Given the description of an element on the screen output the (x, y) to click on. 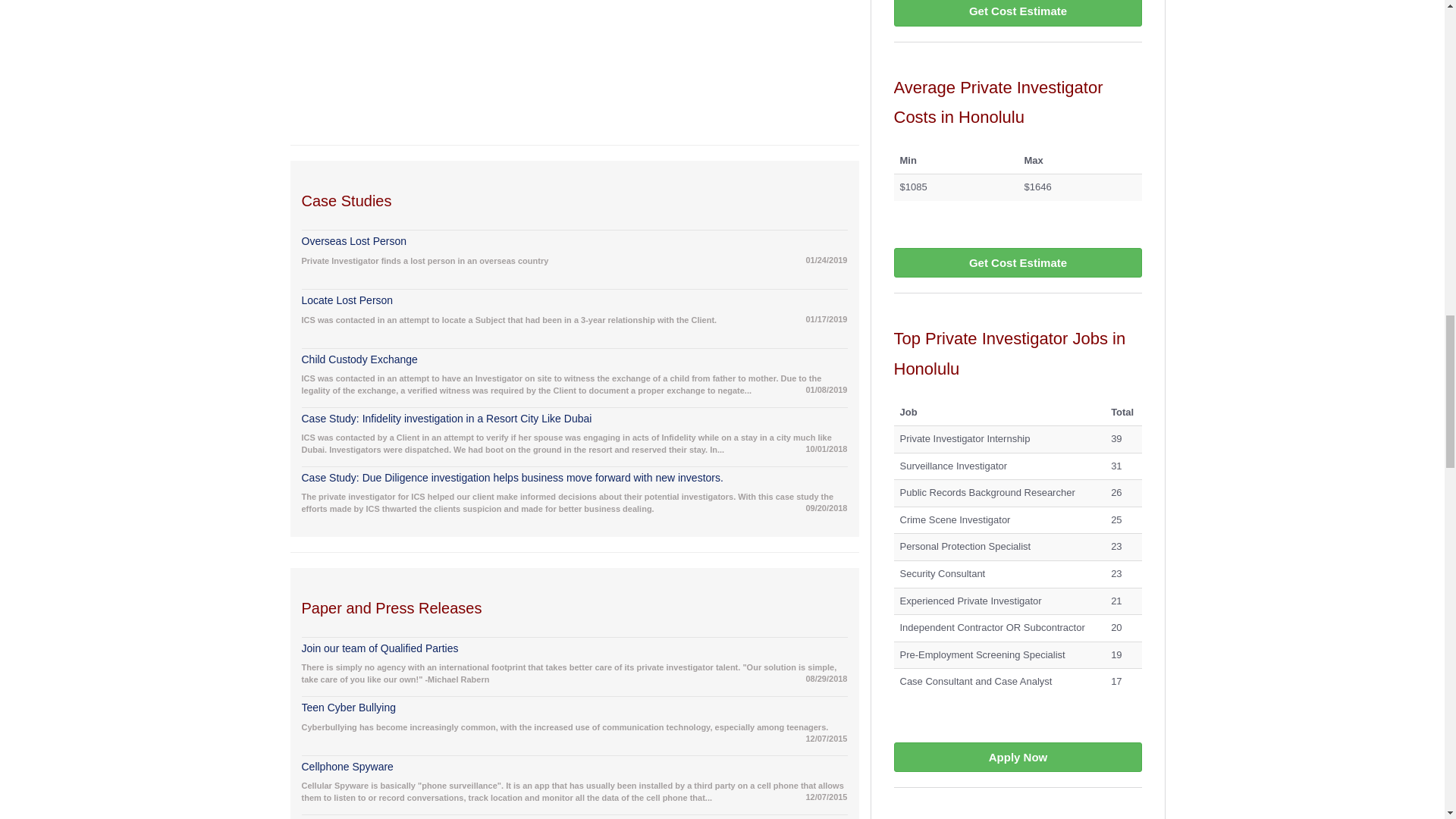
Cellphone Spyware (574, 767)
Overseas Lost Person (574, 241)
Locate Lost Person (574, 300)
Teen Cyber Bullying (574, 708)
Child Custody Exchange (574, 360)
Join our team of Qualified Parties (574, 649)
